Given the description of an element on the screen output the (x, y) to click on. 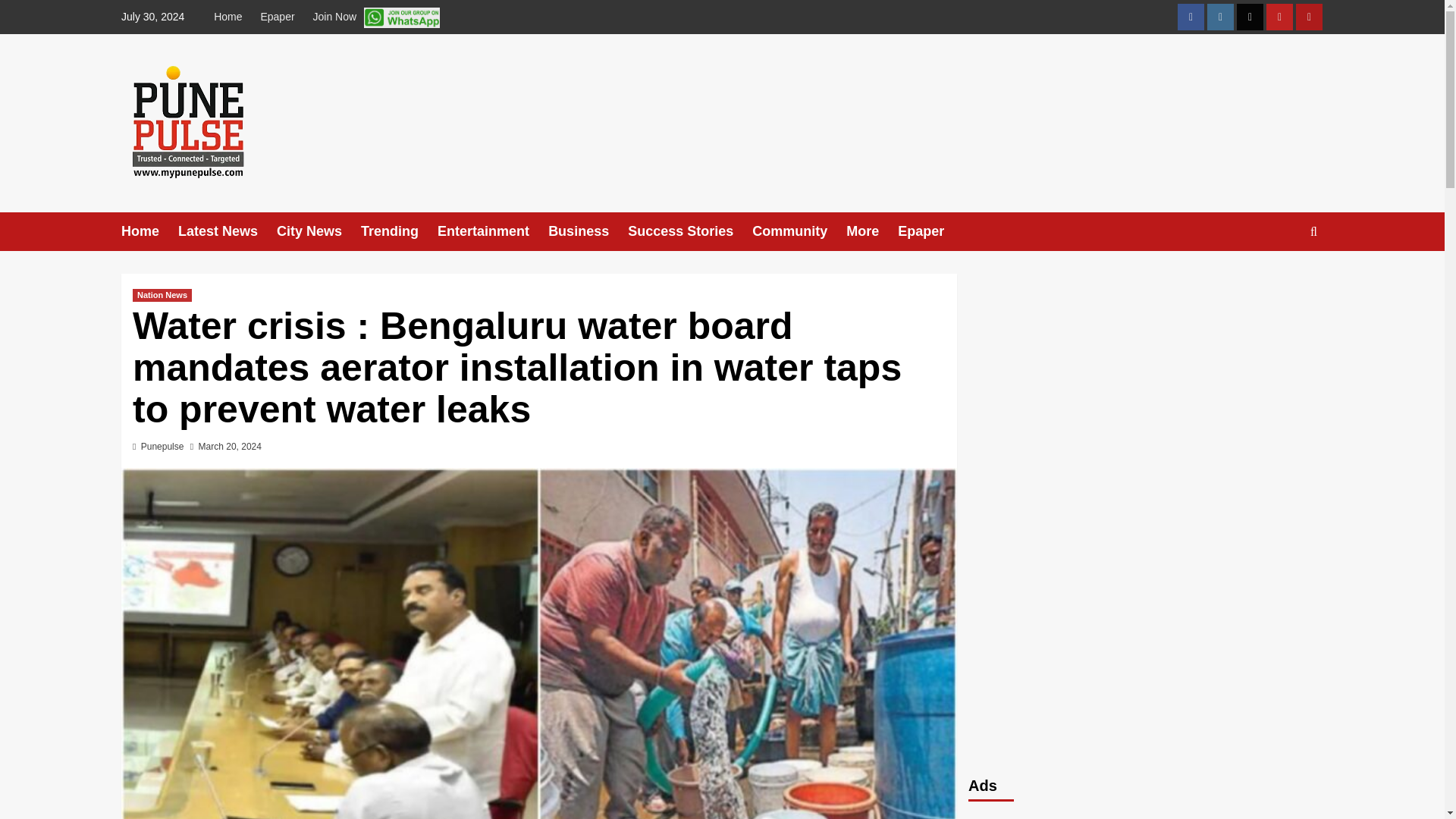
Telegram (1308, 17)
Twitter (1249, 17)
Home (231, 17)
Success Stories (689, 231)
More (871, 231)
Entertainment (493, 231)
Join Now (375, 17)
Facebook (1190, 17)
Instagram (1220, 17)
Latest News (226, 231)
Trending (399, 231)
Youtube (1279, 17)
Epaper (276, 17)
City News (318, 231)
Community (798, 231)
